Given the description of an element on the screen output the (x, y) to click on. 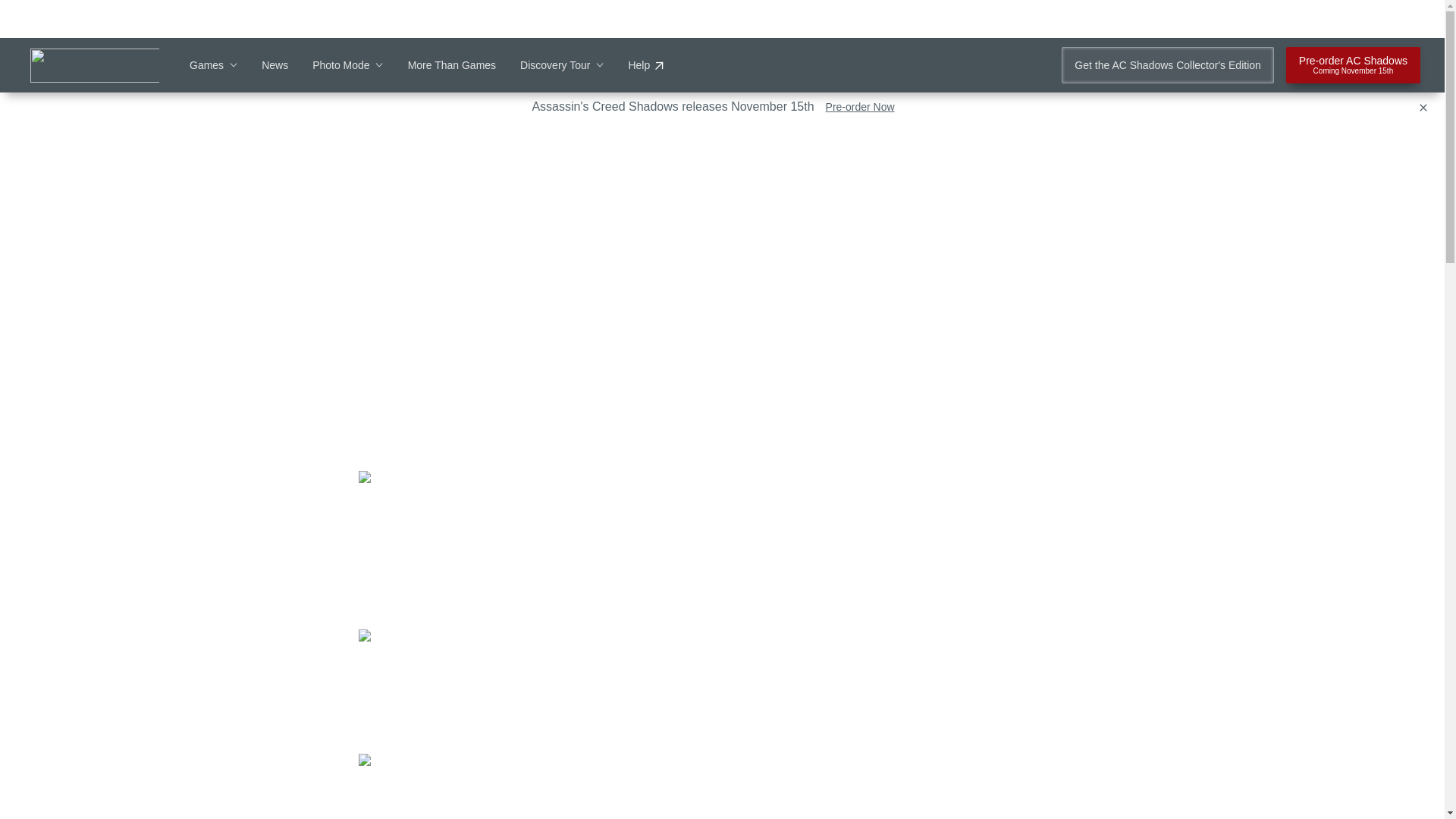
Games (213, 64)
Get the AC Shadows Collector's Edition (1166, 64)
Pre-order Now (860, 106)
Discovery Tour (561, 64)
More Than Games (451, 64)
Back (197, 143)
Photo Mode (348, 64)
Help (1353, 64)
